Given the description of an element on the screen output the (x, y) to click on. 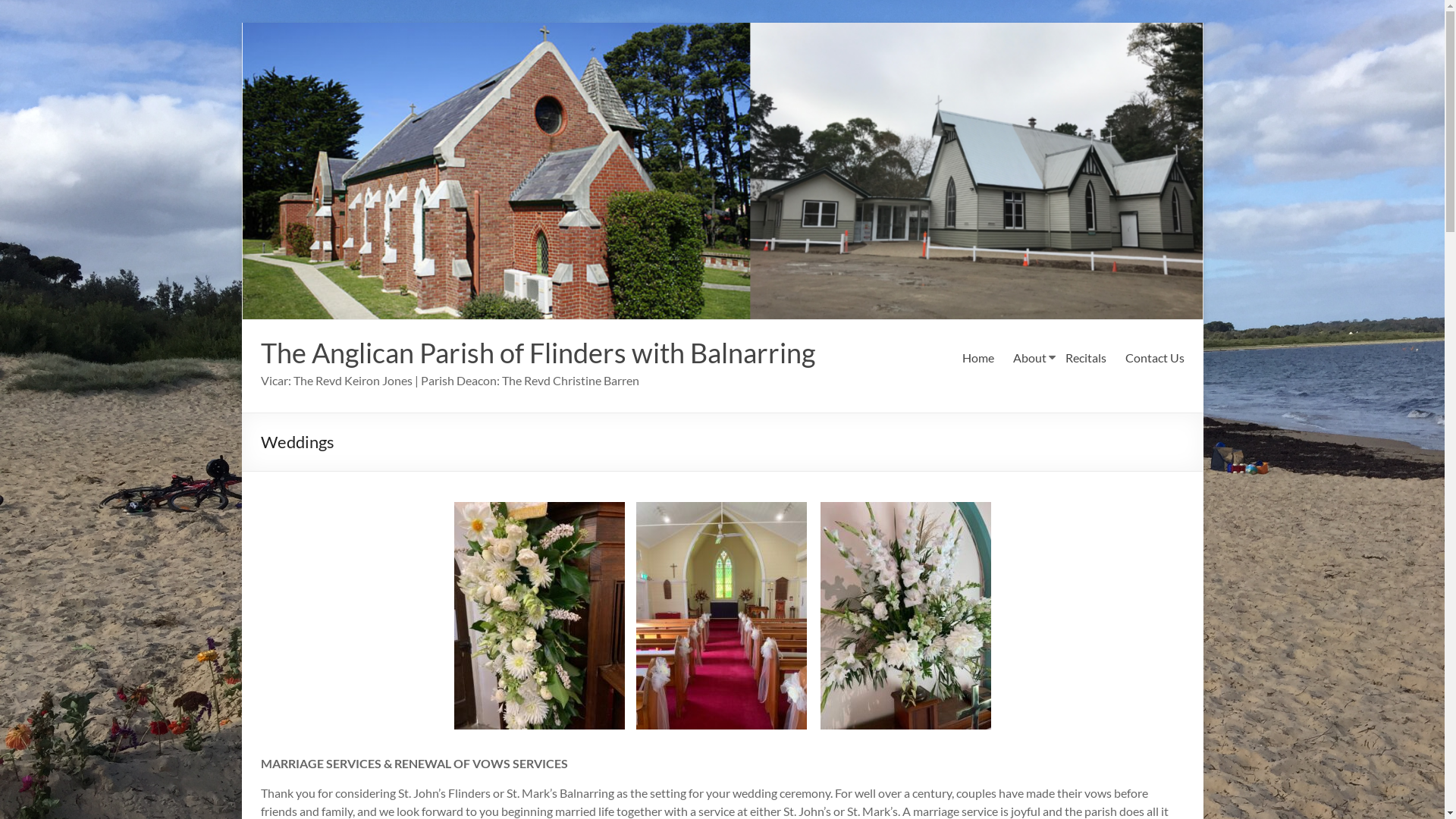
Contact Us Element type: text (1154, 357)
Recitals Element type: text (1084, 357)
The Anglican Parish of Flinders with Balnarring Element type: text (537, 352)
Home Element type: text (977, 357)
About Element type: text (1029, 357)
Skip to content Element type: text (241, 21)
